Given the description of an element on the screen output the (x, y) to click on. 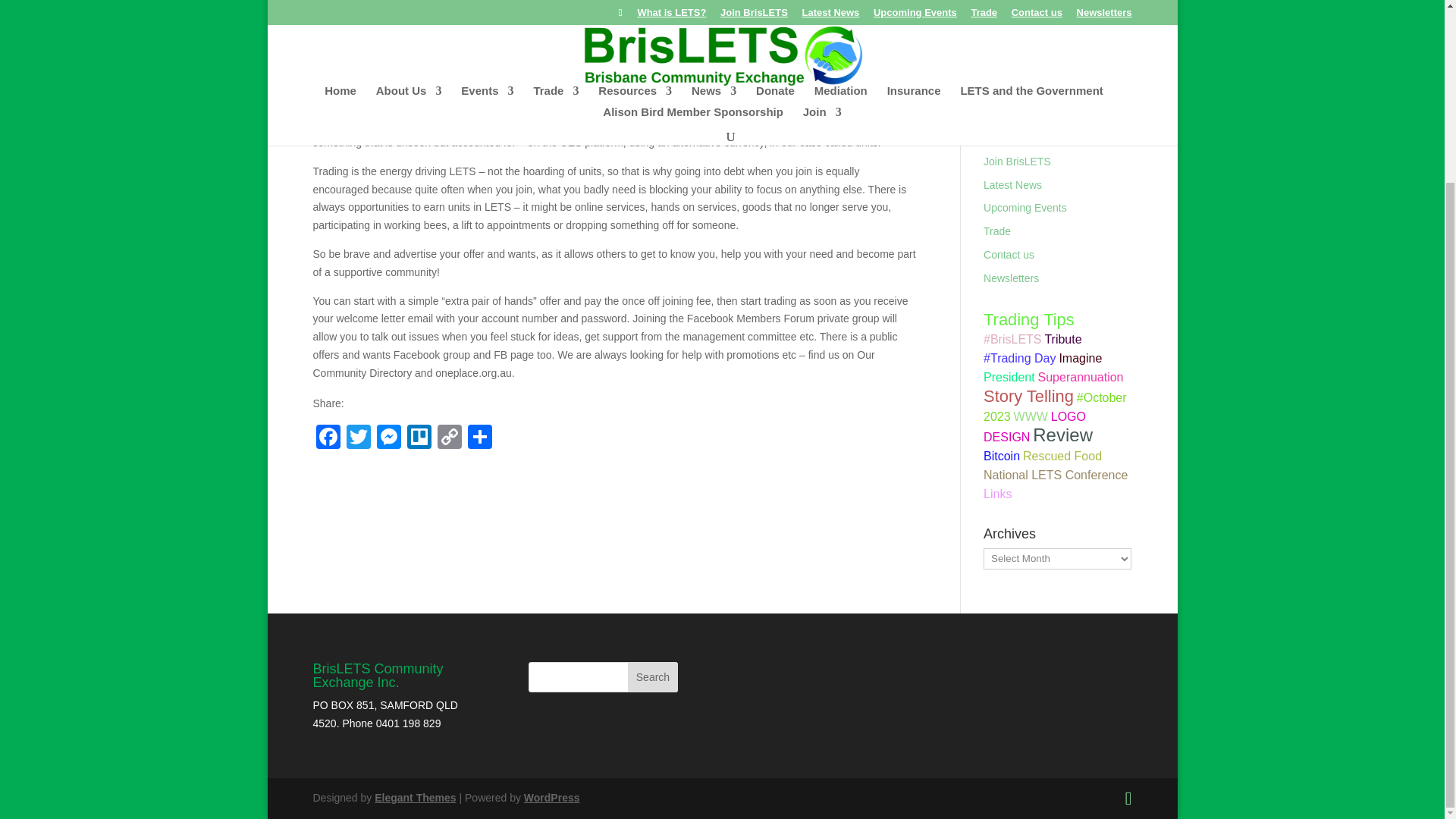
BLCE (1050, 12)
Premium WordPress Themes (414, 797)
Copy Link (448, 438)
Search (652, 676)
Messenger (387, 438)
Twitter (357, 438)
Click here to retrieve your login details (1039, 89)
Log In (1003, 66)
Facebook (327, 438)
Trello (418, 438)
